Given the description of an element on the screen output the (x, y) to click on. 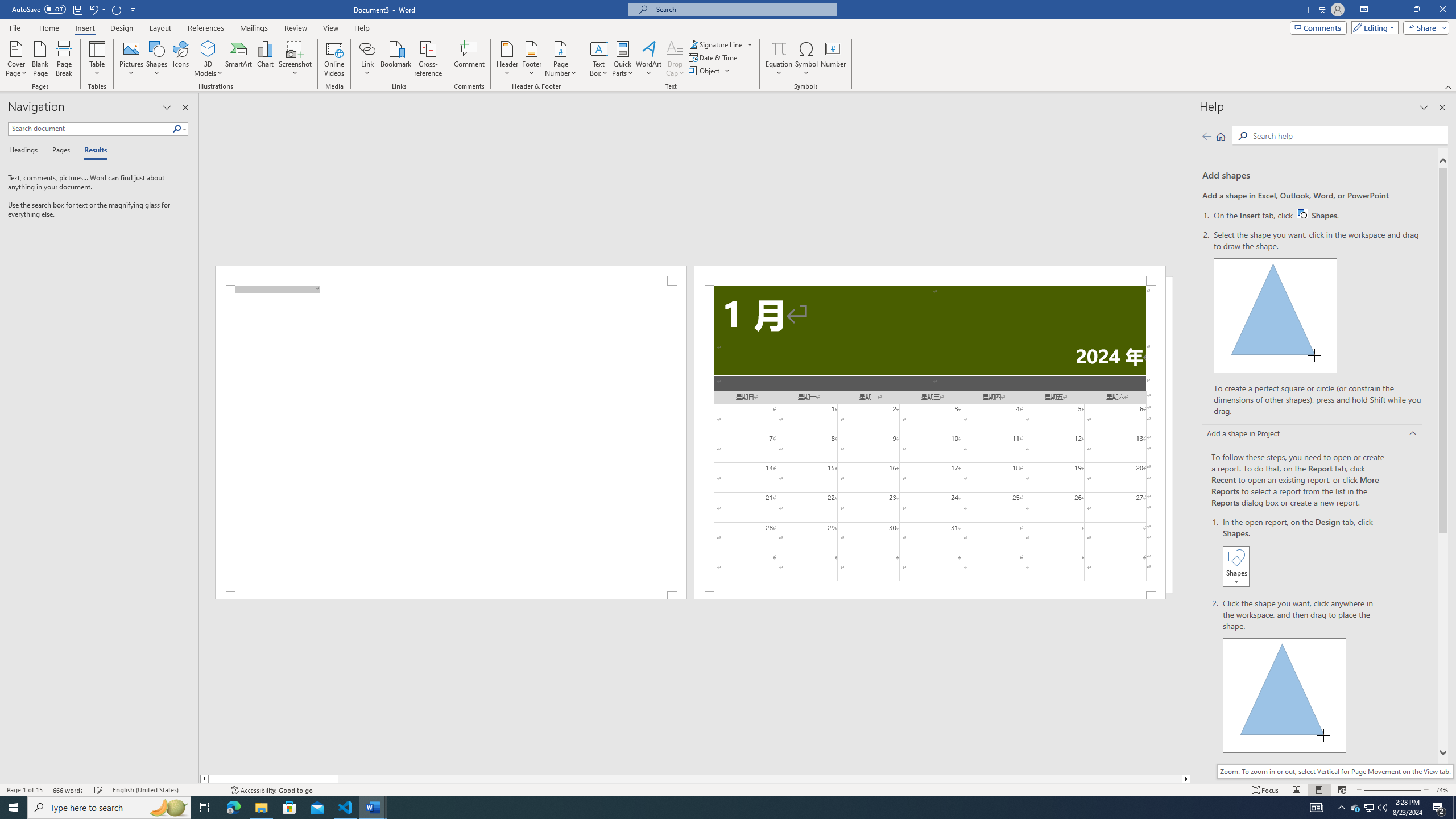
Insert Shapes button (1236, 566)
Symbol (806, 58)
3D Models (208, 58)
Pictures (131, 58)
Signature Line (721, 44)
Link (367, 58)
